Given the description of an element on the screen output the (x, y) to click on. 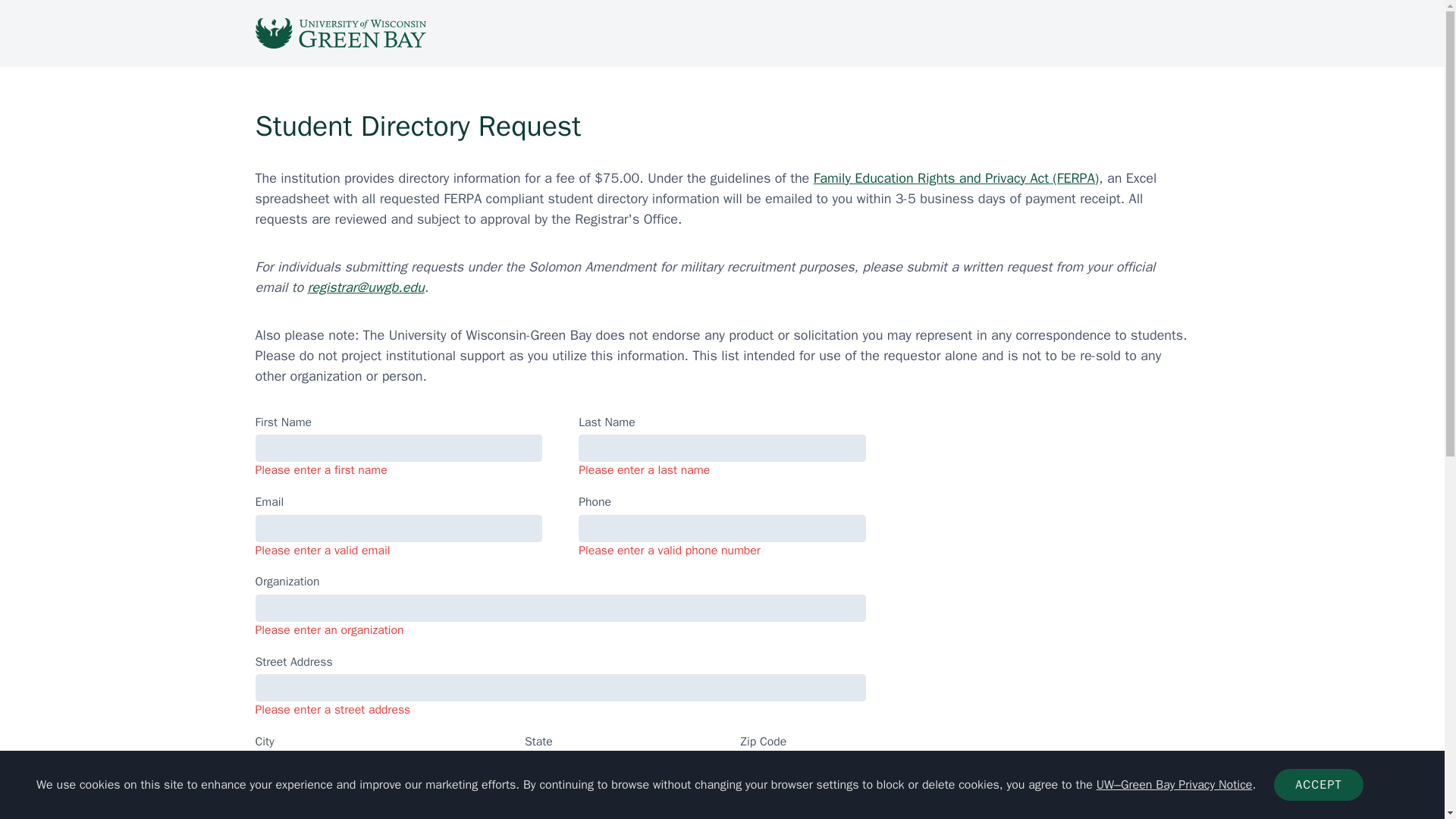
Accept (1318, 784)
Accept (1318, 784)
